Given the description of an element on the screen output the (x, y) to click on. 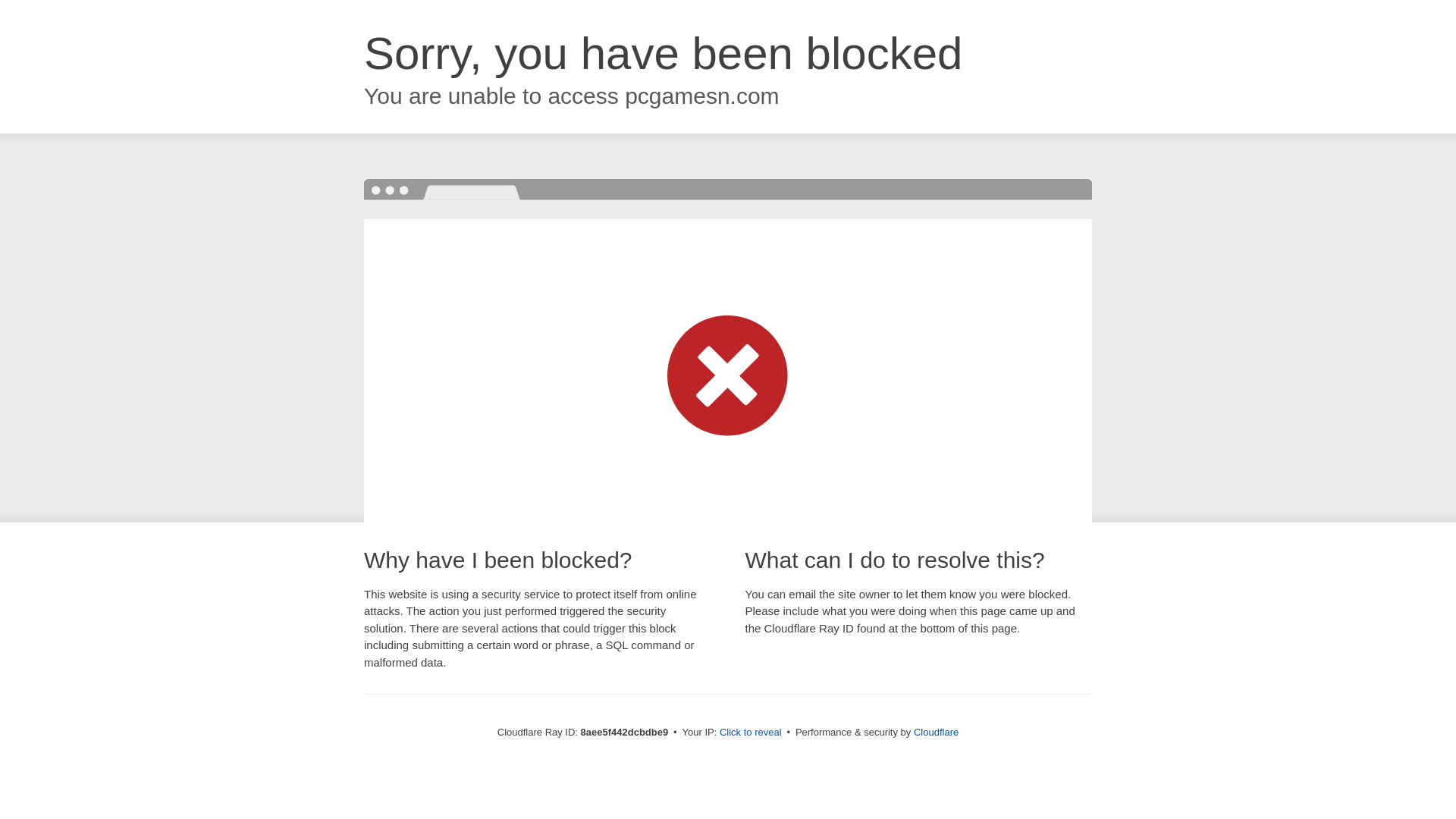
Cloudflare (936, 731)
Click to reveal (750, 732)
